Given the description of an element on the screen output the (x, y) to click on. 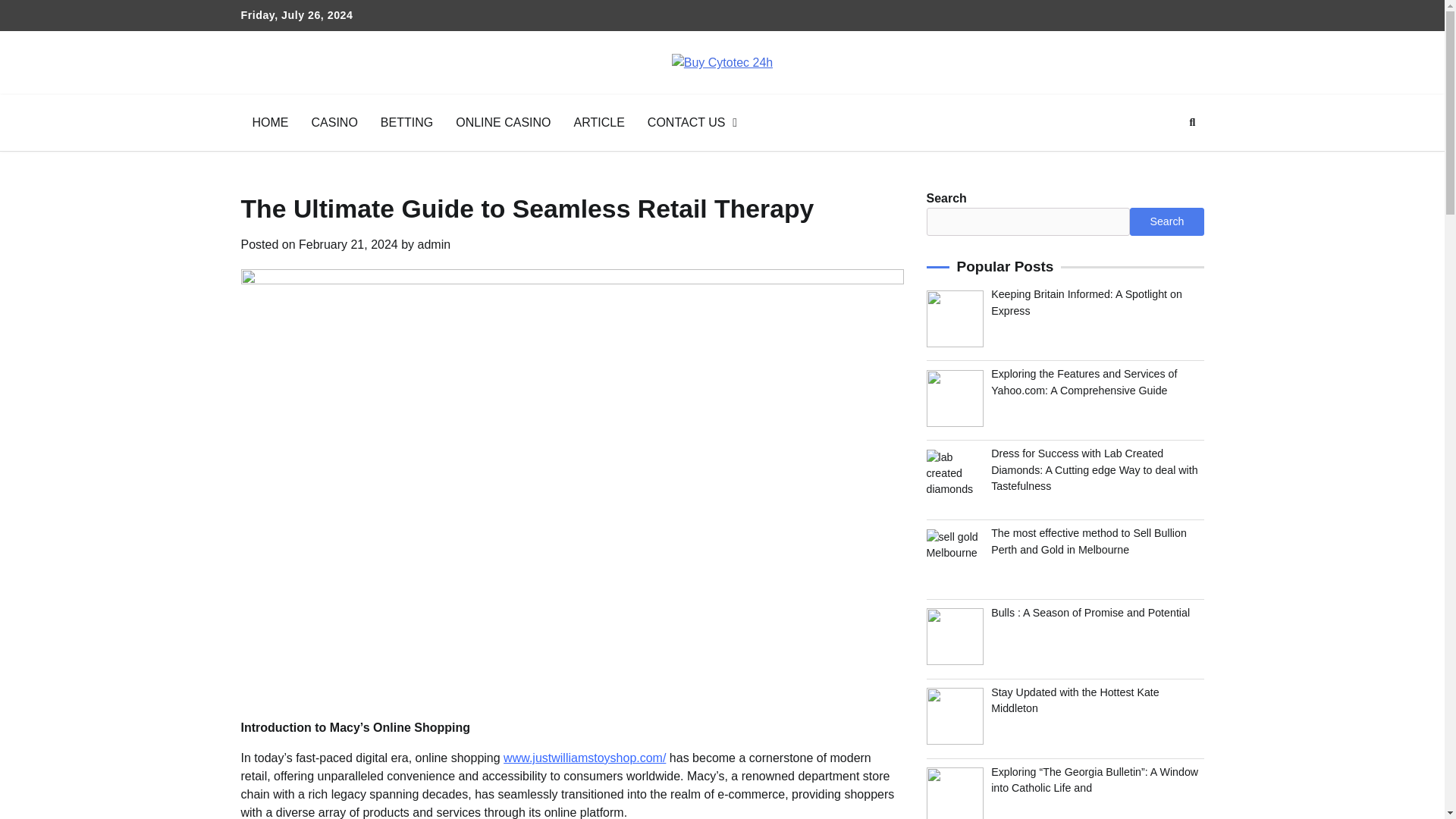
HOME (270, 122)
CONTACT US (692, 122)
ARTICLE (599, 122)
Stay Updated with the Hottest Kate Middleton (1074, 700)
Bulls : A Season of Promise and Potential (1090, 612)
sell gold Melbourne (955, 557)
admin (434, 244)
BETTING (406, 122)
Search (1164, 157)
CASINO (334, 122)
lab created diamonds (955, 477)
ONLINE CASINO (503, 122)
